Given the description of an element on the screen output the (x, y) to click on. 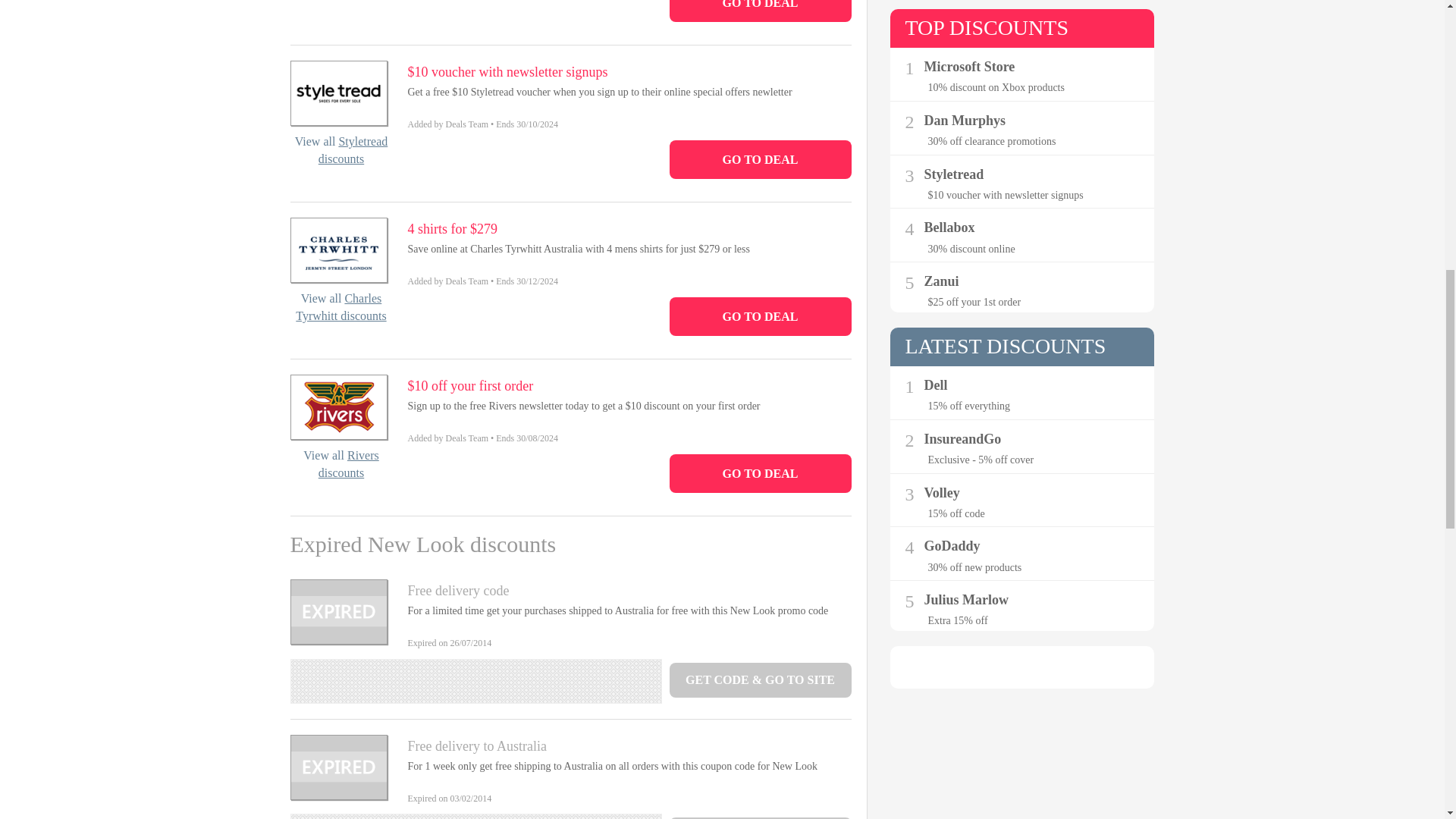
GO TO DEAL (759, 473)
GO TO DEAL (759, 11)
GO TO DEAL (759, 159)
Charles Tyrwhitt discounts (340, 306)
GO TO DEAL (759, 316)
Rivers discounts (348, 463)
Styletread discounts (353, 150)
